Given the description of an element on the screen output the (x, y) to click on. 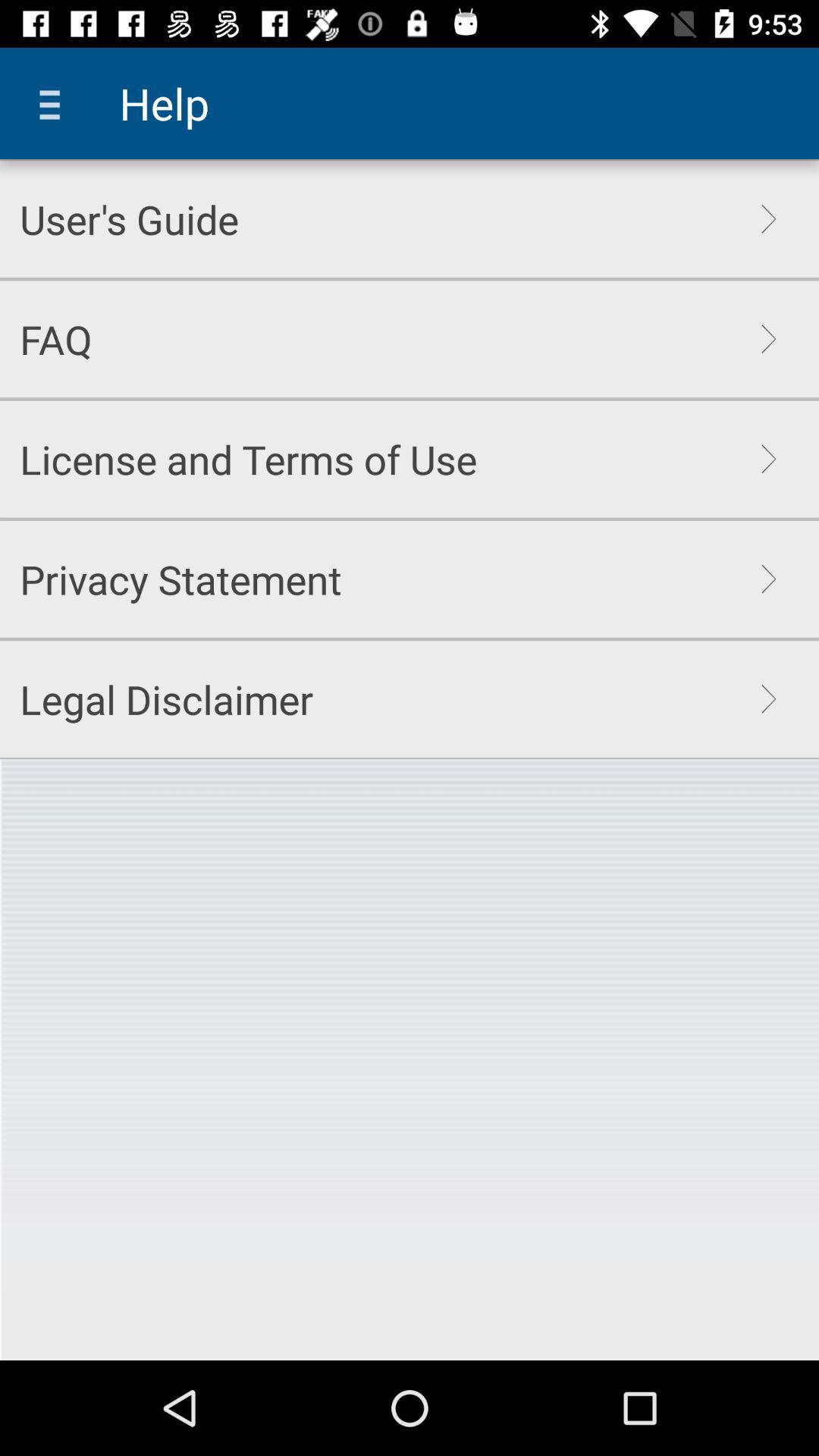
launch user's guide icon (129, 218)
